Given the description of an element on the screen output the (x, y) to click on. 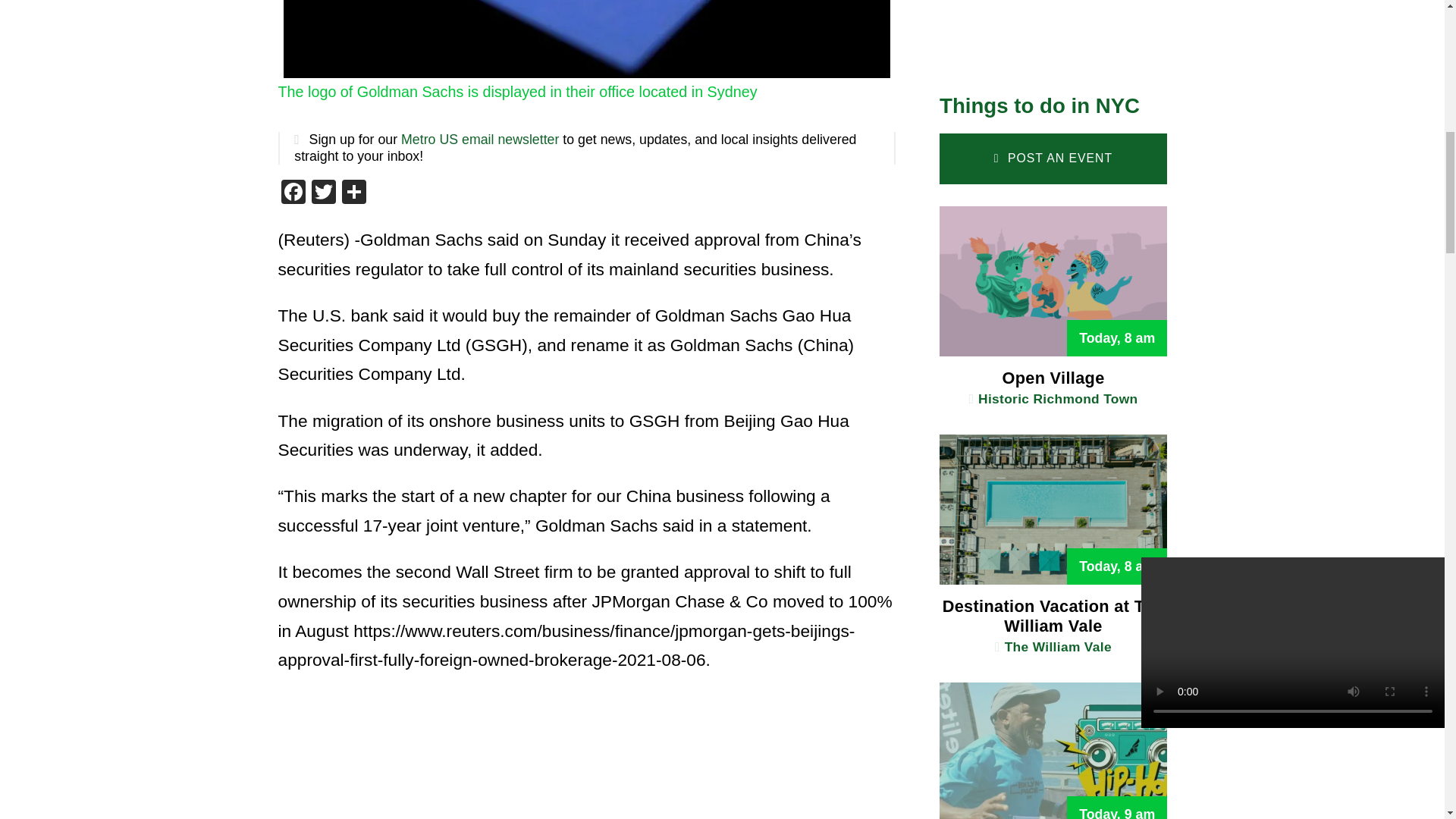
Facebook (292, 193)
Twitter (322, 193)
